Given the description of an element on the screen output the (x, y) to click on. 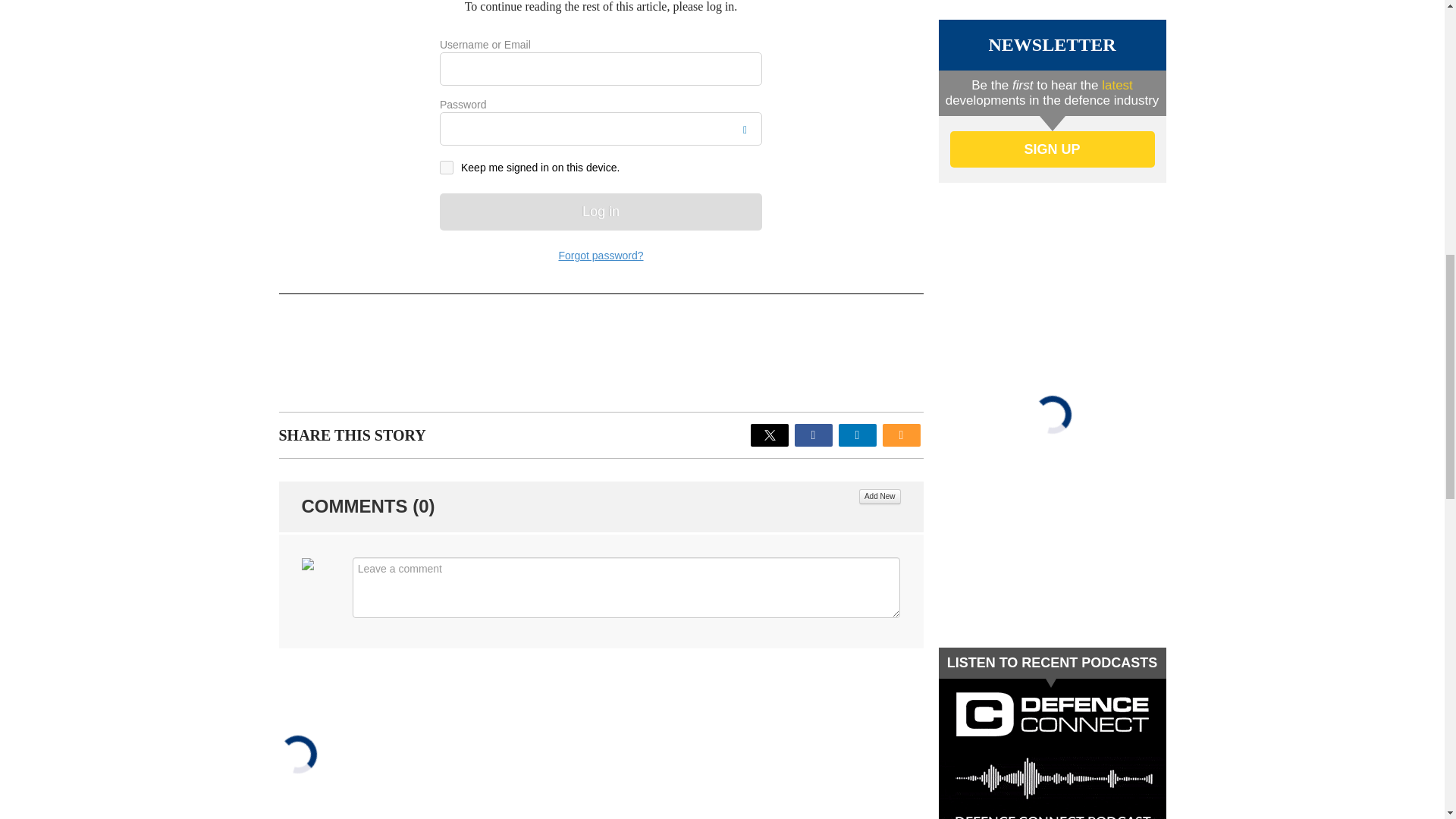
on (445, 167)
Add New (880, 496)
sign up (1051, 148)
Log in (600, 211)
